Given the description of an element on the screen output the (x, y) to click on. 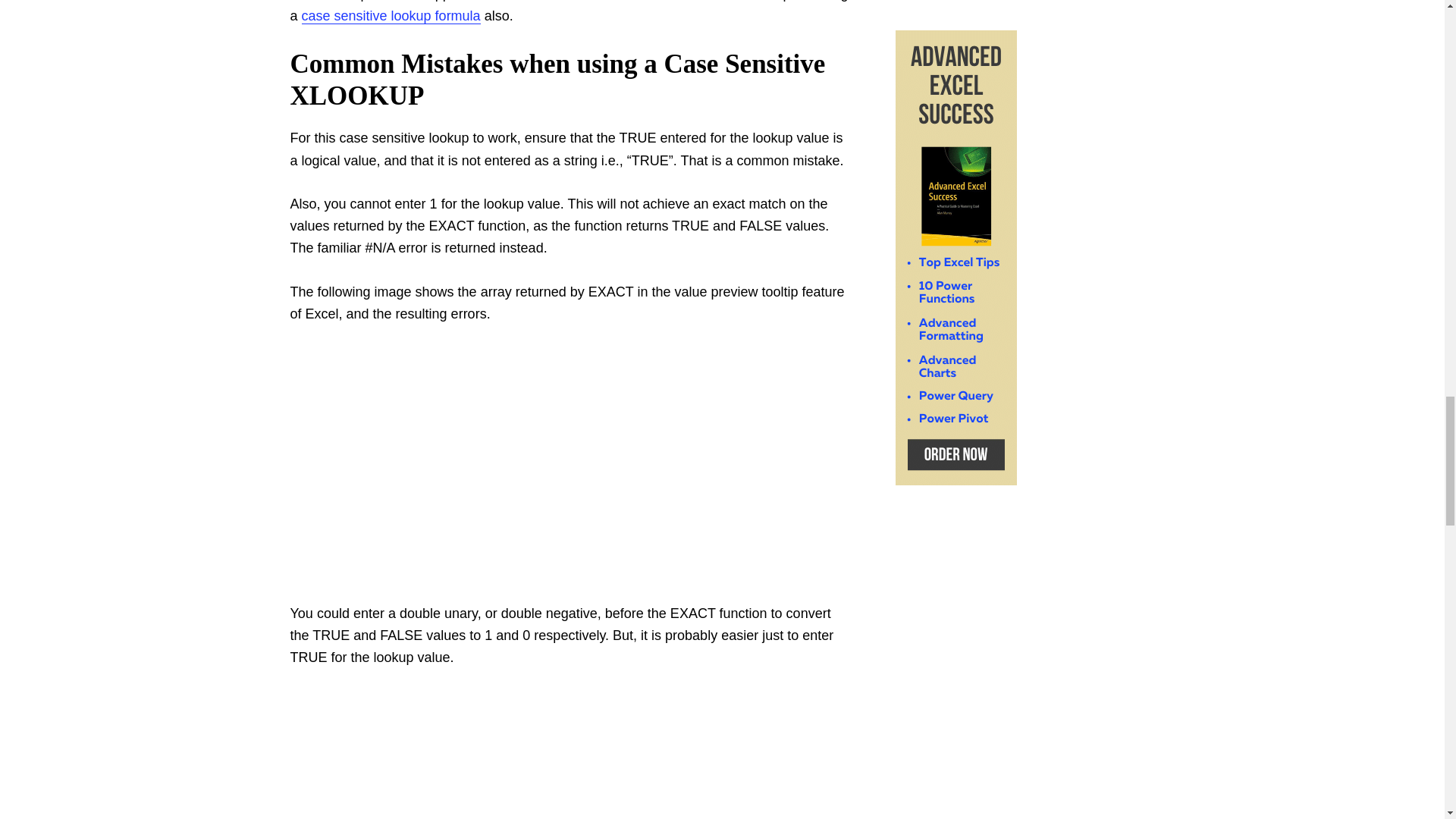
case sensitive lookup formula (390, 16)
